Given the description of an element on the screen output the (x, y) to click on. 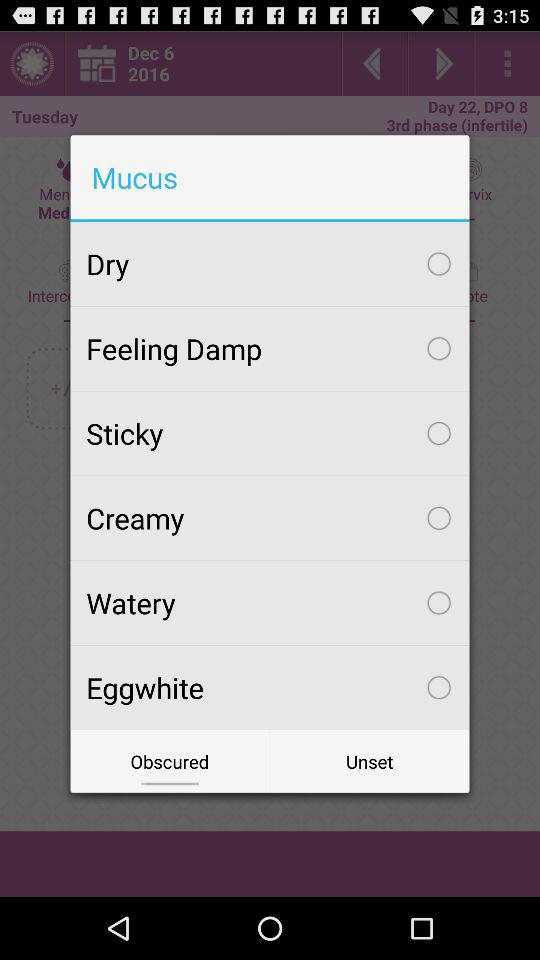
select checkbox above the watery (269, 518)
